Given the description of an element on the screen output the (x, y) to click on. 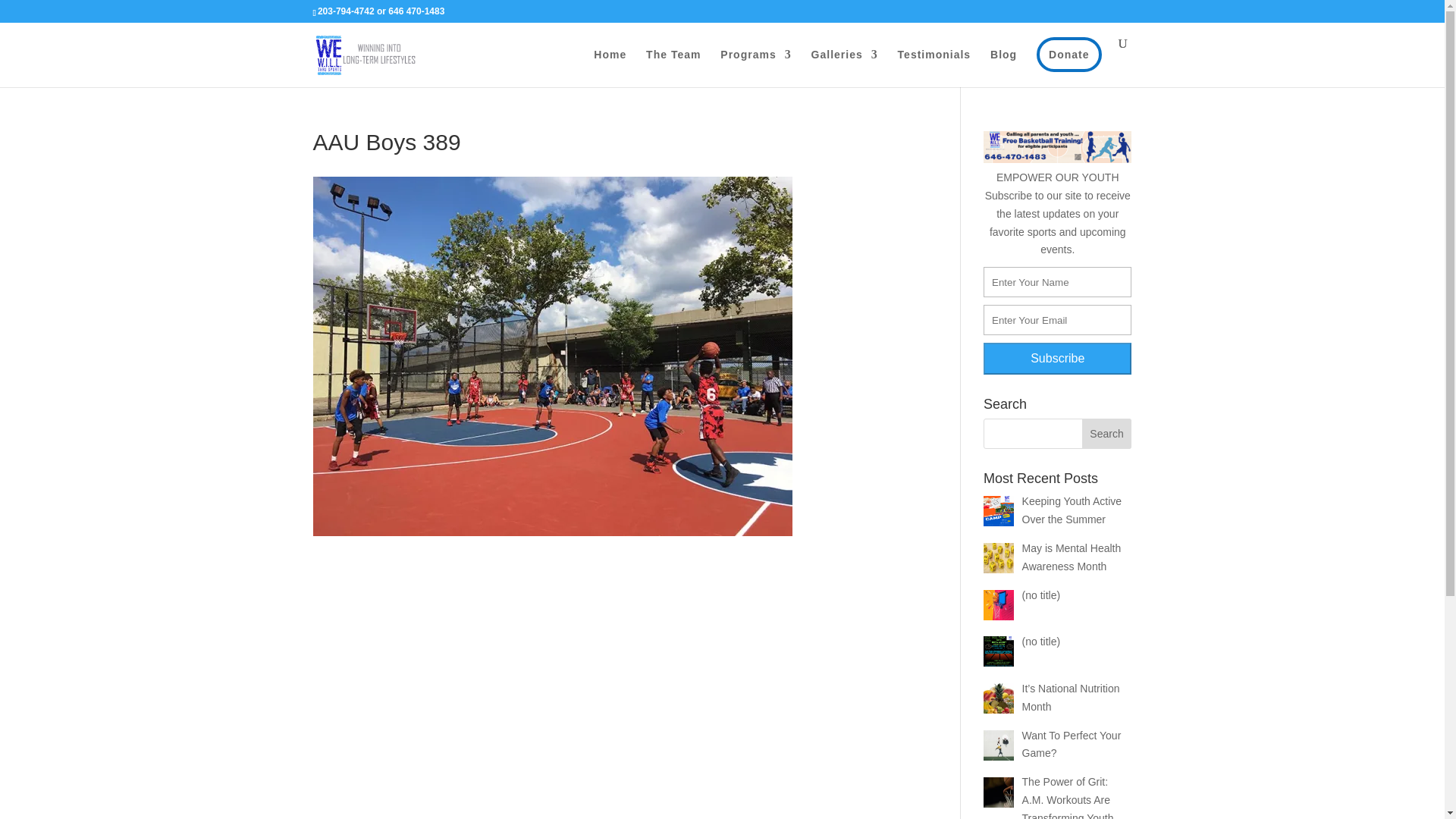
Subscribe (1057, 358)
Blog (1003, 67)
The Team (673, 67)
Search (1106, 433)
Galleries (843, 67)
Home (610, 67)
Testimonials (934, 67)
Programs (755, 67)
Donate (1068, 54)
